Given the description of an element on the screen output the (x, y) to click on. 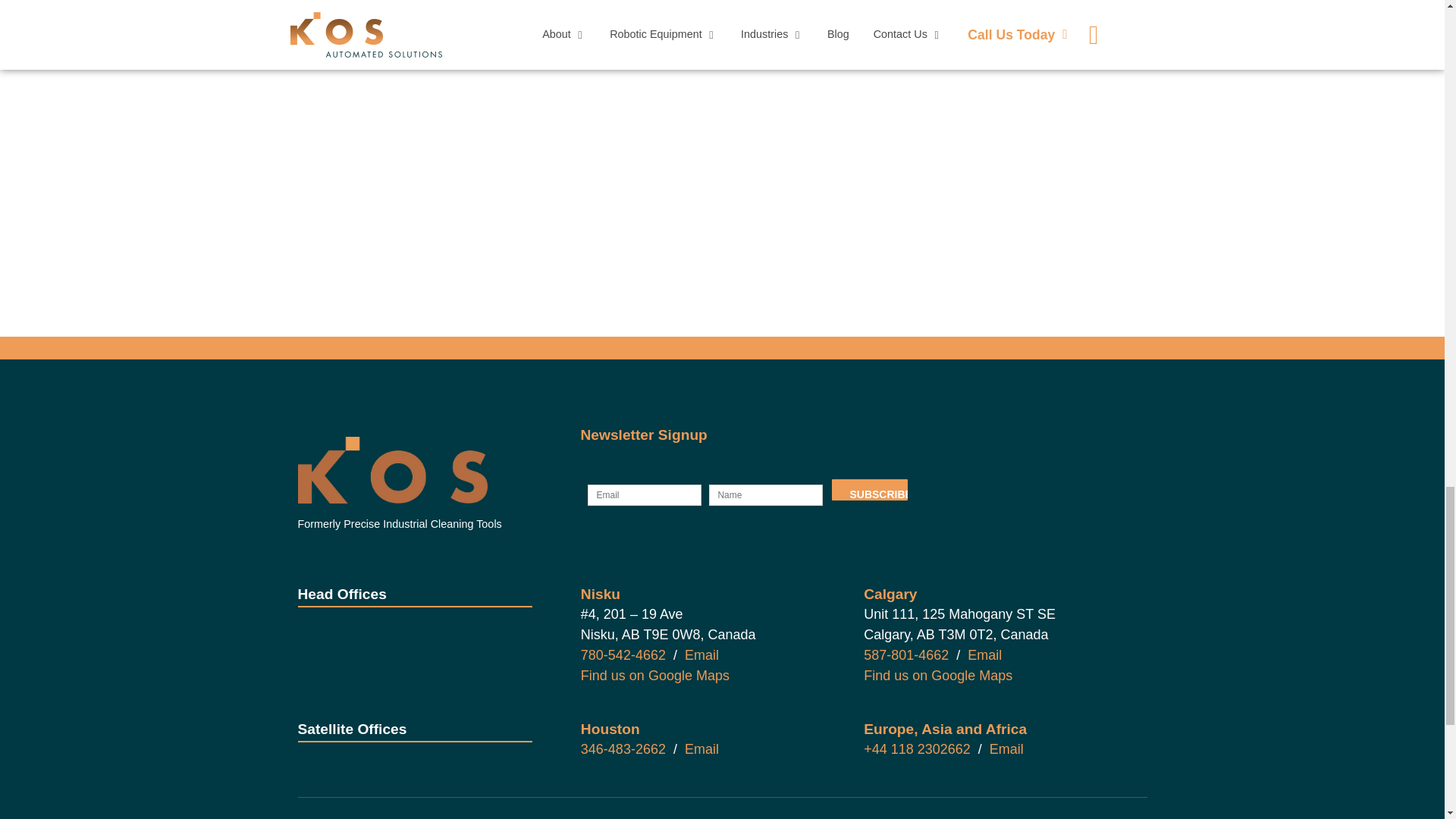
Subscribe (869, 489)
